Given the description of an element on the screen output the (x, y) to click on. 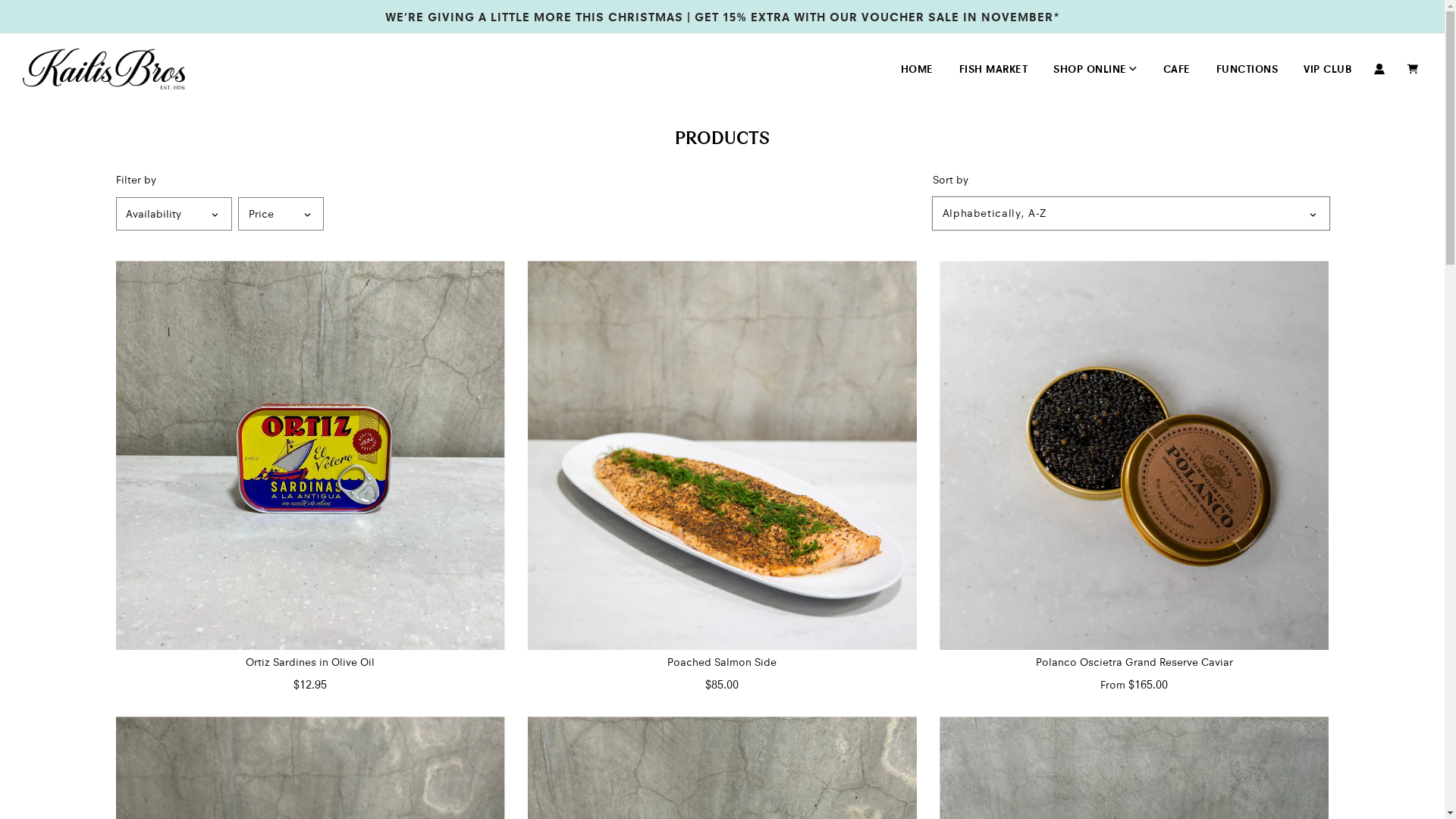
Log in Element type: hover (1379, 68)
Poached Salmon Side Element type: hover (721, 454)
Polanco Oscietra Grand Reserve Caviar Element type: text (1134, 661)
Poached Salmon Side Element type: text (721, 661)
FISH MARKET Element type: text (993, 68)
$12.95 Element type: text (309, 684)
FUNCTIONS Element type: text (1246, 68)
Ortiz Sardines in Olive Oil Element type: text (309, 661)
$85.00 Element type: text (721, 684)
HOME Element type: text (916, 68)
VIP CLUB Element type: text (1327, 68)
From $165.00 Element type: text (1133, 684)
SHOP ONLINE Element type: text (1094, 68)
Polanco Oscietra Grand Reserve Caviar Element type: hover (1133, 454)
Ortiz Sardines in Olive Oil Element type: hover (309, 454)
CAFE Element type: text (1176, 68)
